Given the description of an element on the screen output the (x, y) to click on. 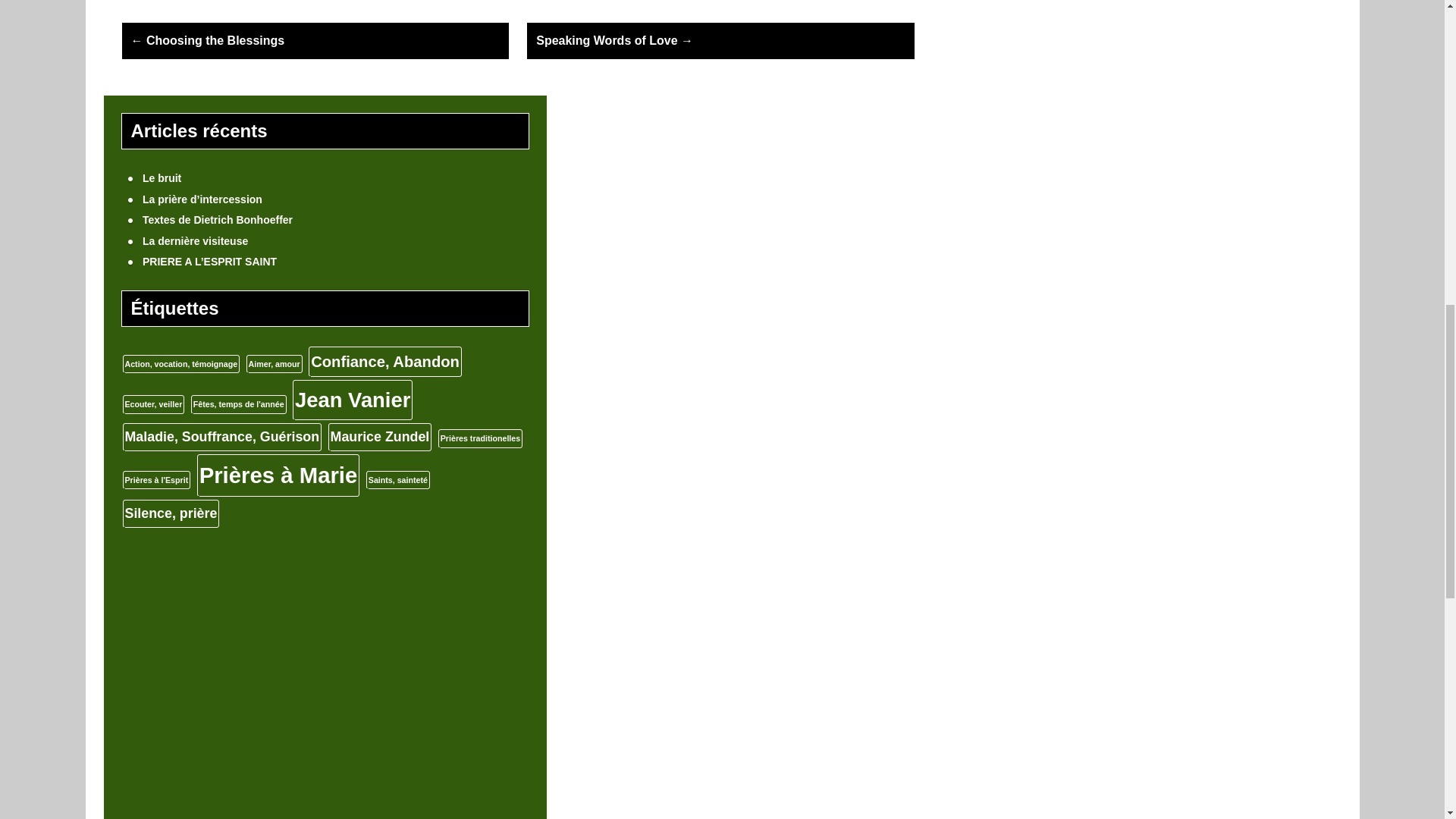
mai 2023 (1034, 9)
octobre 2021 (1035, 133)
janvier 2023 (1034, 71)
mars 2023 (1035, 51)
novembre 2016 (1034, 237)
janvier 2022 (1034, 92)
novembre 2021 (1034, 113)
octobre 2017 (1035, 196)
mai 2016 (1034, 259)
mars 2021 (1035, 175)
